Given the description of an element on the screen output the (x, y) to click on. 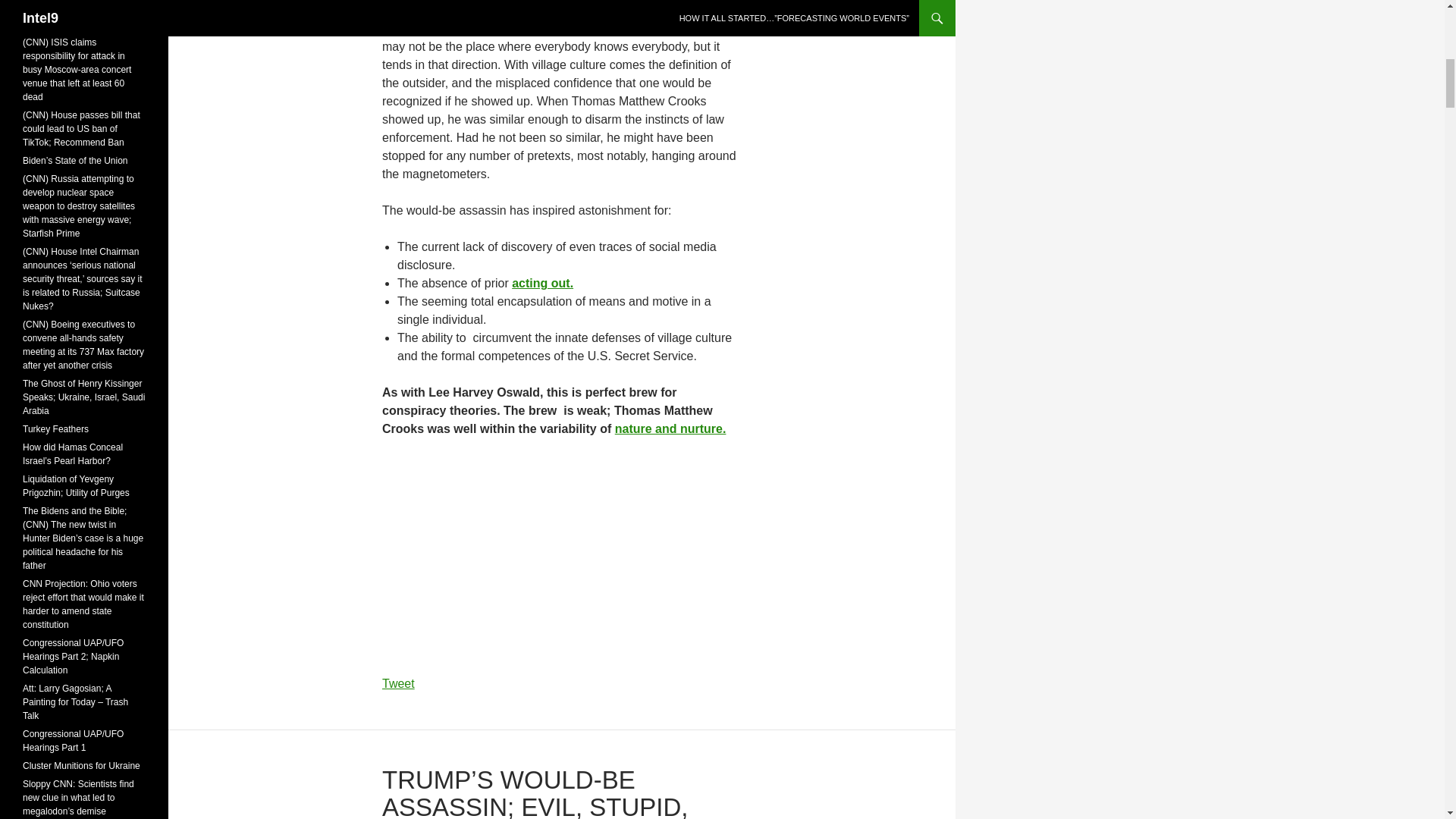
acting out. (542, 282)
Tweet (397, 683)
nature and nurture. (670, 428)
